Given the description of an element on the screen output the (x, y) to click on. 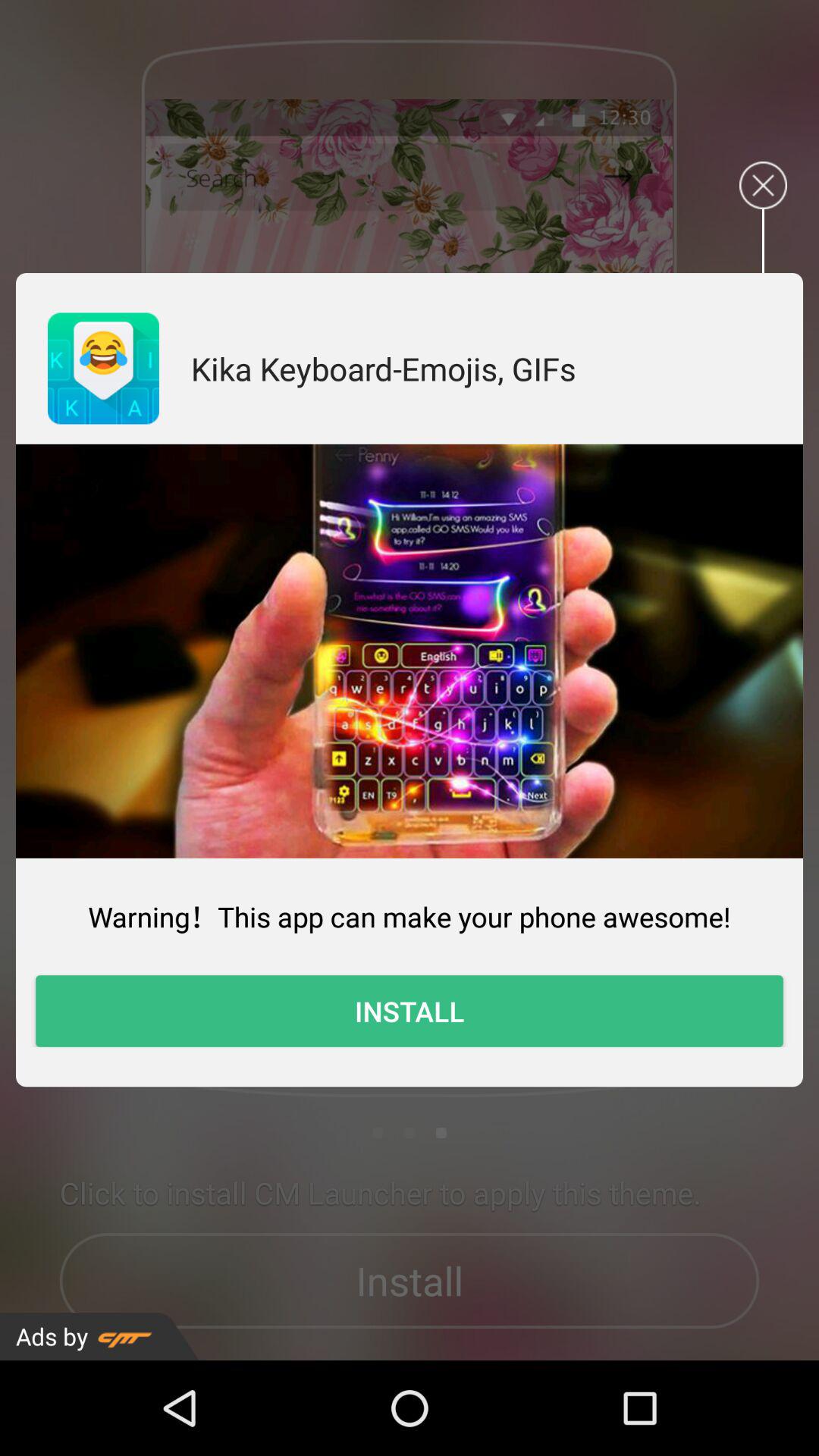
choose the kika keyboard emojis (383, 368)
